Given the description of an element on the screen output the (x, y) to click on. 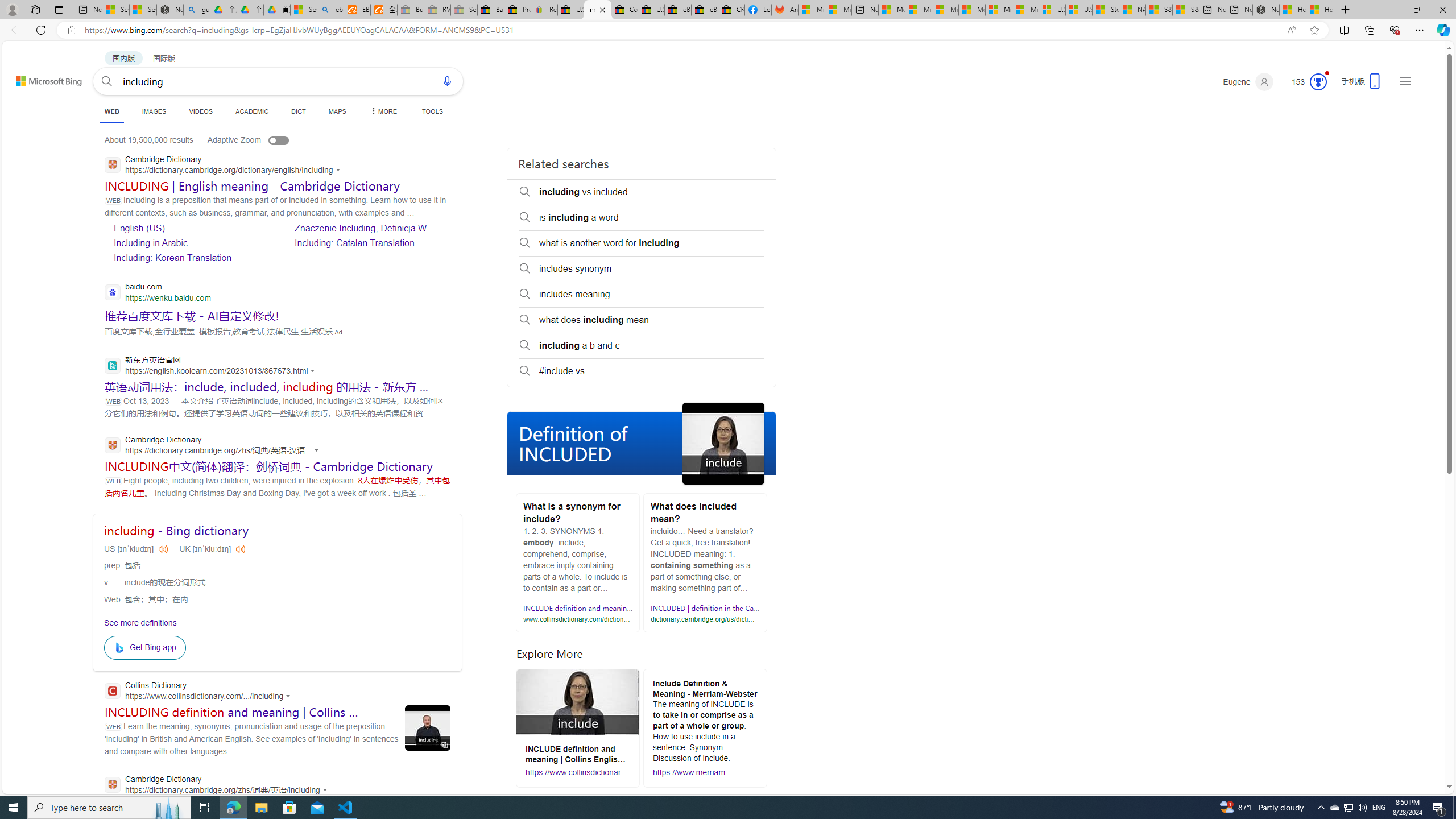
Adaptive Zoom (259, 139)
Settings and quick links (1404, 80)
English (US) (191, 227)
Search (106, 80)
Get Bing app (144, 647)
English (US) (138, 228)
Actions for this site (326, 789)
WEB (111, 112)
Sell worldwide with eBay - Sleeping (463, 9)
